Given the description of an element on the screen output the (x, y) to click on. 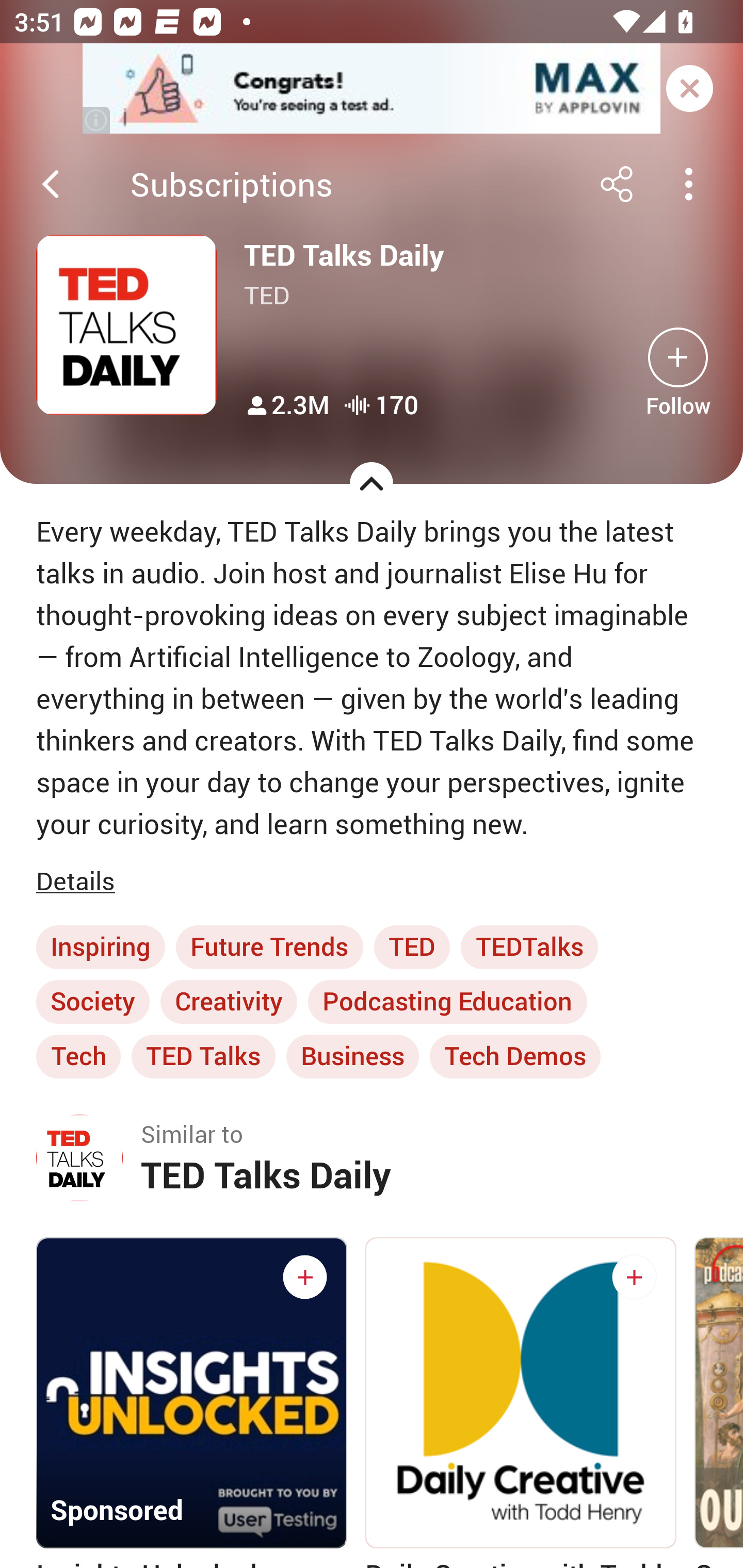
app-monetization (371, 88)
(i) (96, 119)
Back (50, 184)
Subscribe button (677, 357)
Details (79, 881)
Inspiring (100, 947)
Future Trends (269, 947)
TED (411, 947)
TEDTalks (529, 947)
Society (92, 1001)
Creativity (228, 1001)
Podcasting Education (447, 1001)
Tech (78, 1056)
TED Talks (203, 1056)
Business (352, 1056)
Tech Demos (514, 1056)
Subscribe button (304, 1276)
Subscribe button (634, 1276)
